Given the description of an element on the screen output the (x, y) to click on. 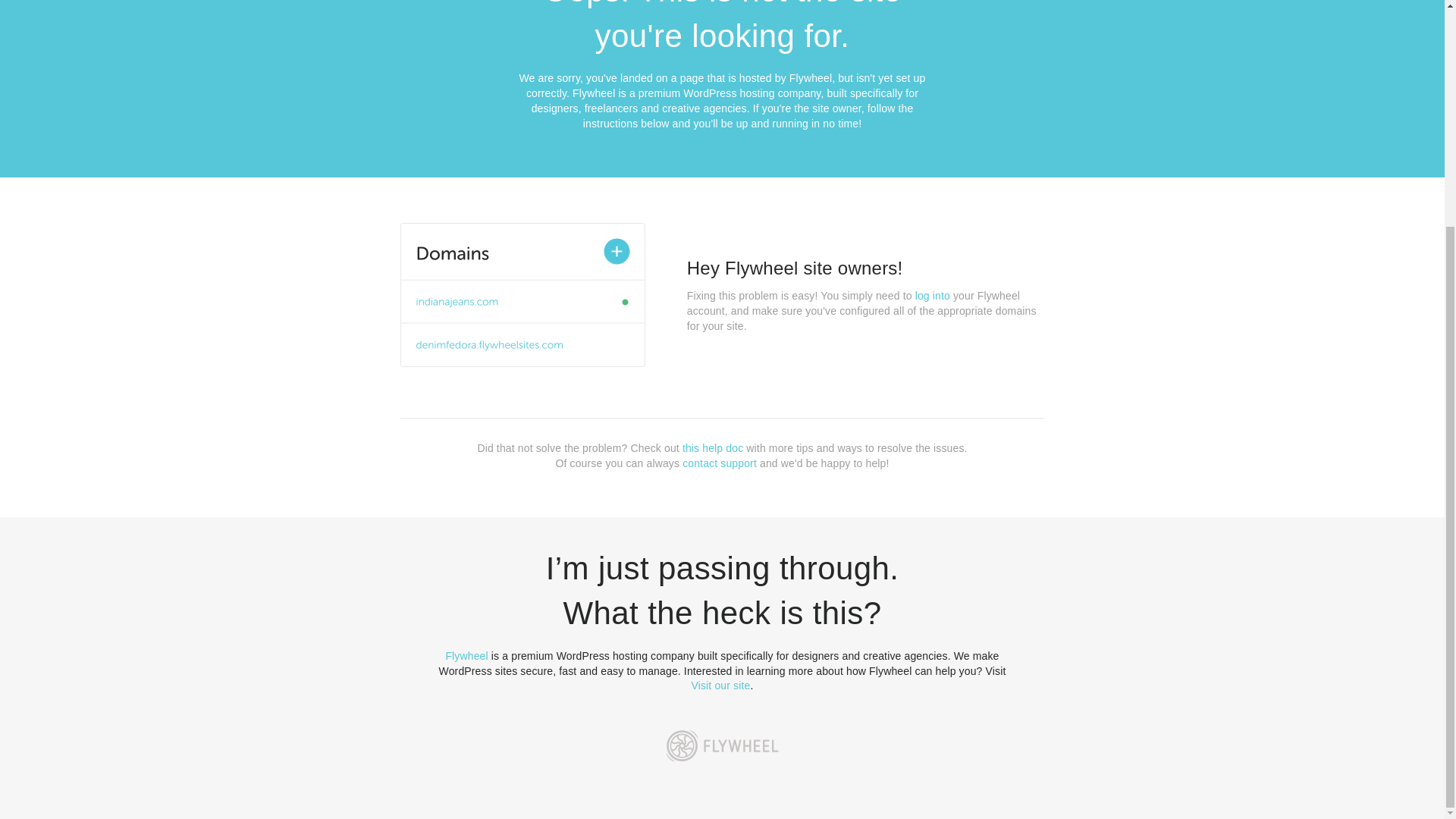
log into (932, 295)
this help doc (712, 448)
Flywheel (466, 655)
Visit our site (721, 685)
contact support (719, 463)
